Given the description of an element on the screen output the (x, y) to click on. 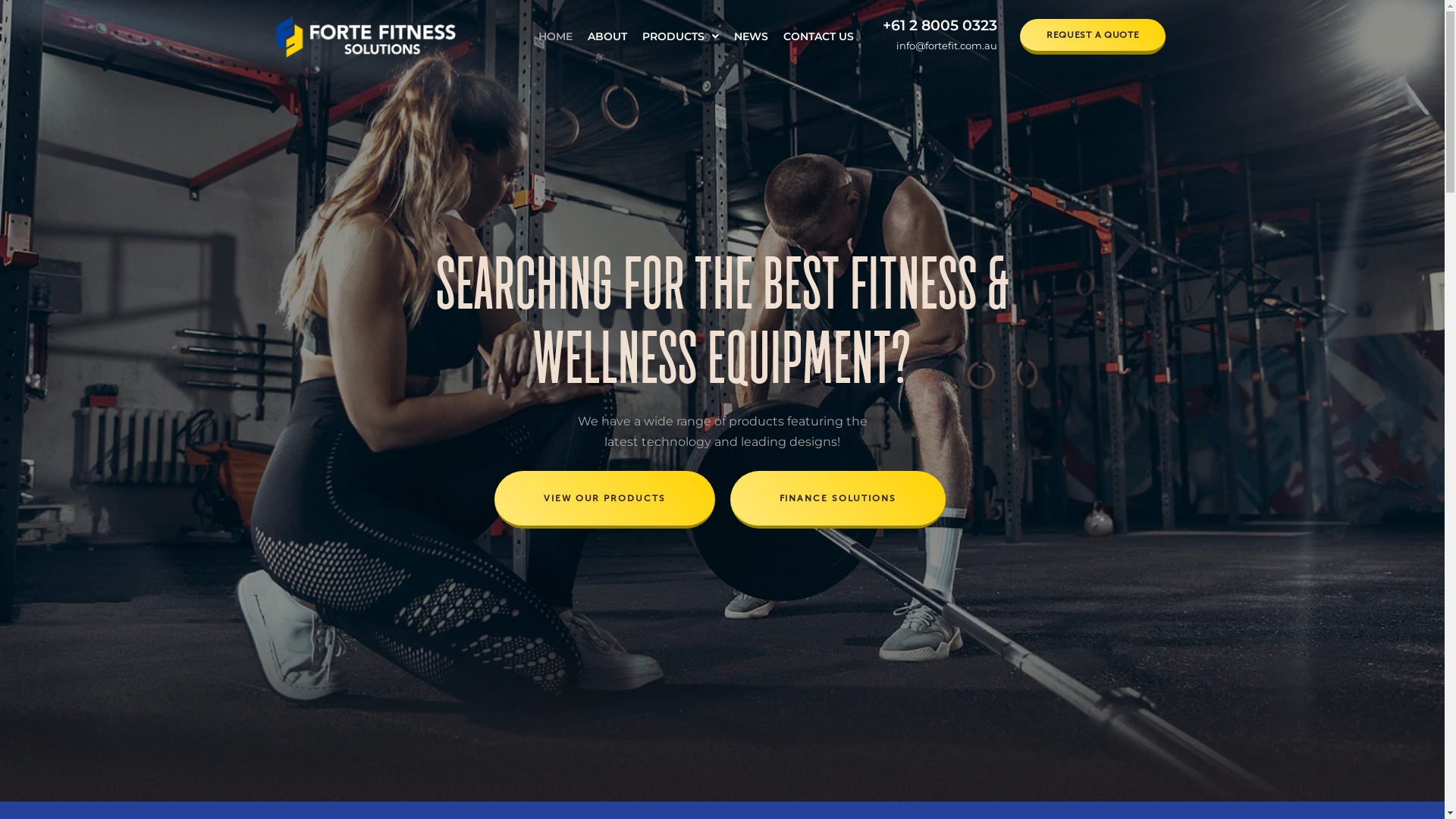
ABOUT Element type: text (607, 36)
+61 2 8005 0323 Element type: text (939, 25)
HOME Element type: text (555, 36)
NEWS Element type: text (750, 36)
FINANCE SOLUTIONS Element type: text (836, 499)
VIEW OUR PRODUCTS Element type: text (604, 499)
CONTACT US Element type: text (818, 36)
info@fortefit.com.au Element type: text (946, 45)
REQUEST A QUOTE Element type: text (1092, 36)
PRODUCTS Element type: text (680, 36)
